Given the description of an element on the screen output the (x, y) to click on. 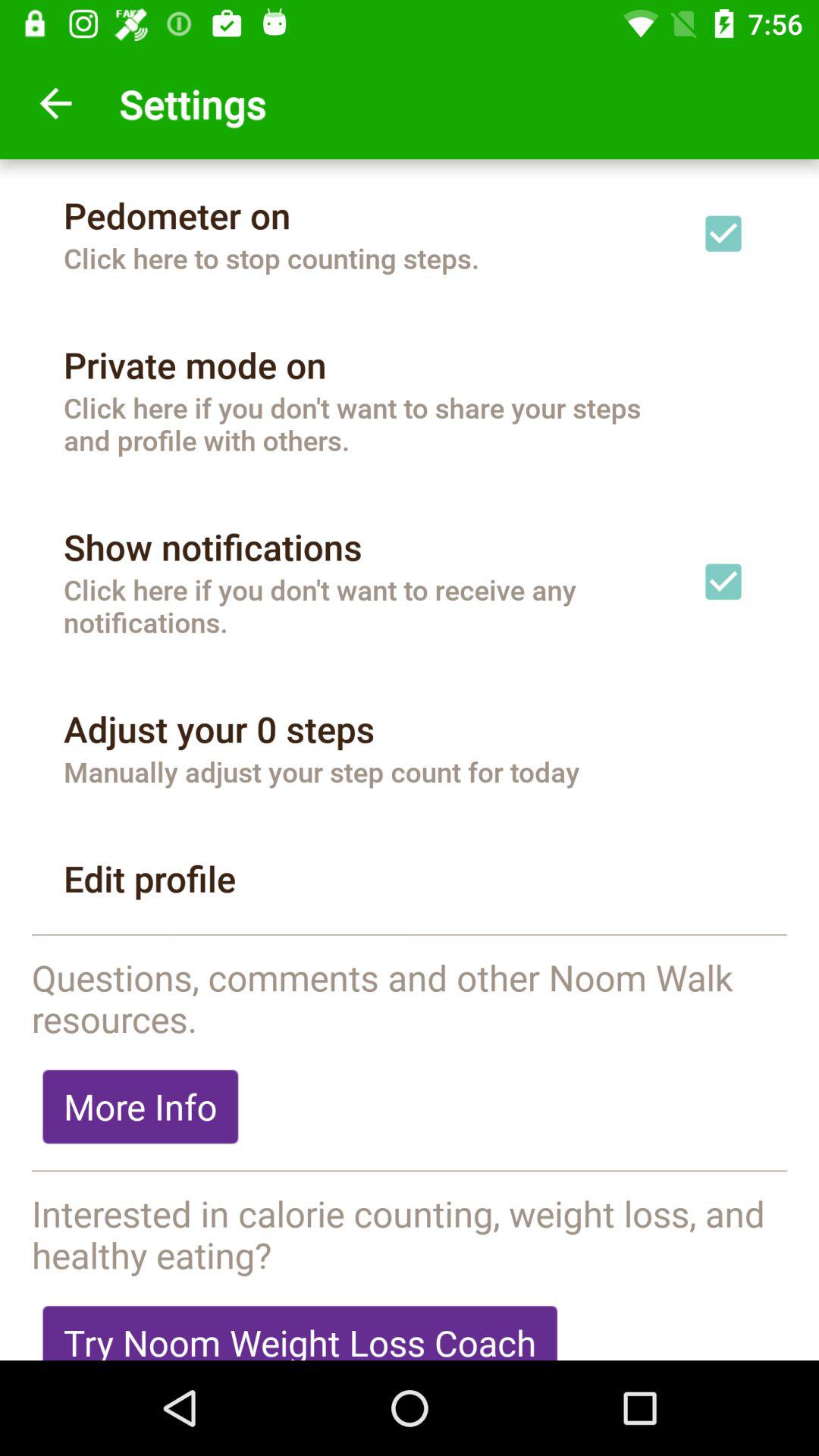
turn on the show notifications (212, 546)
